Given the description of an element on the screen output the (x, y) to click on. 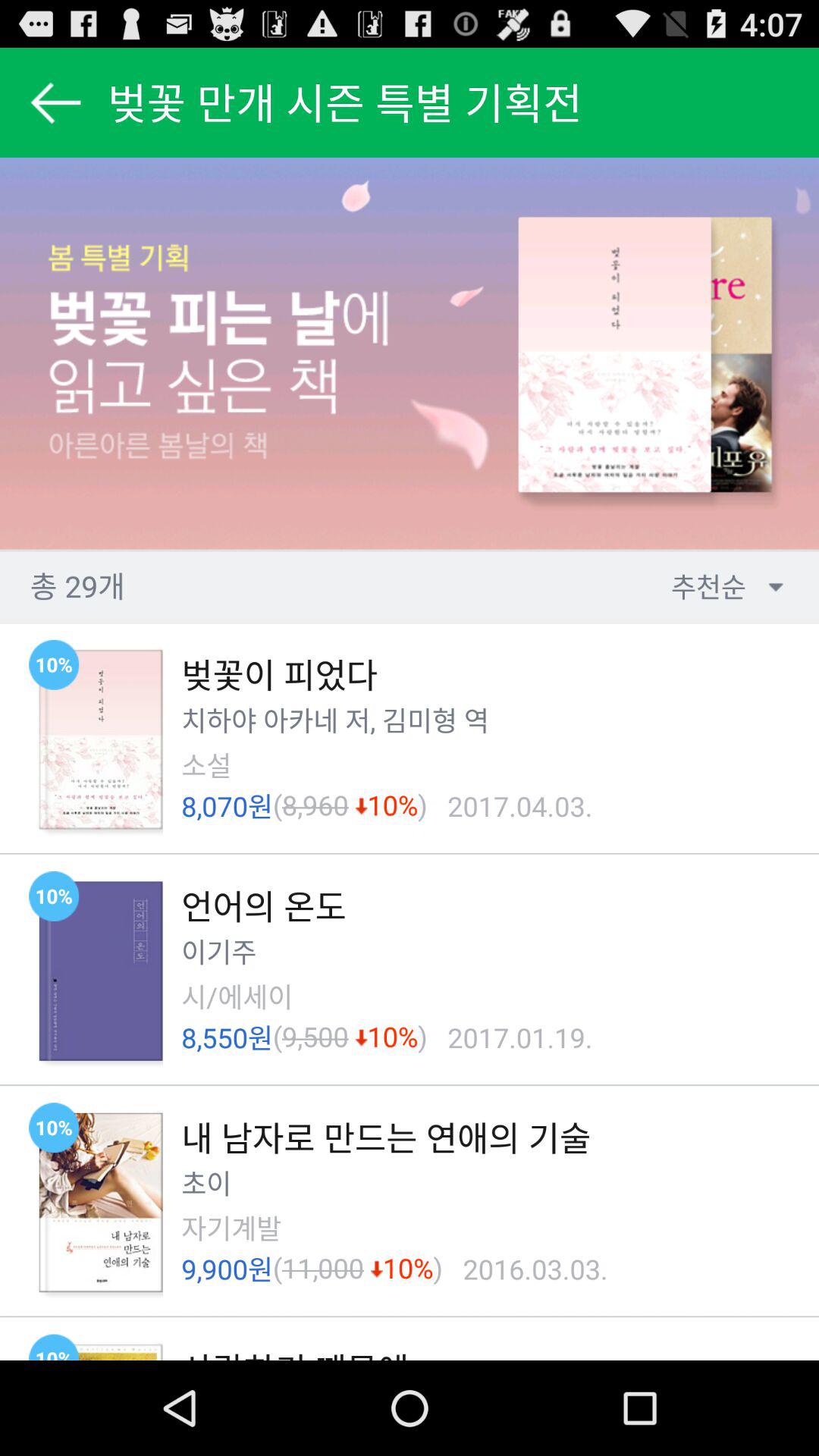
flip until ) app (422, 1037)
